Given the description of an element on the screen output the (x, y) to click on. 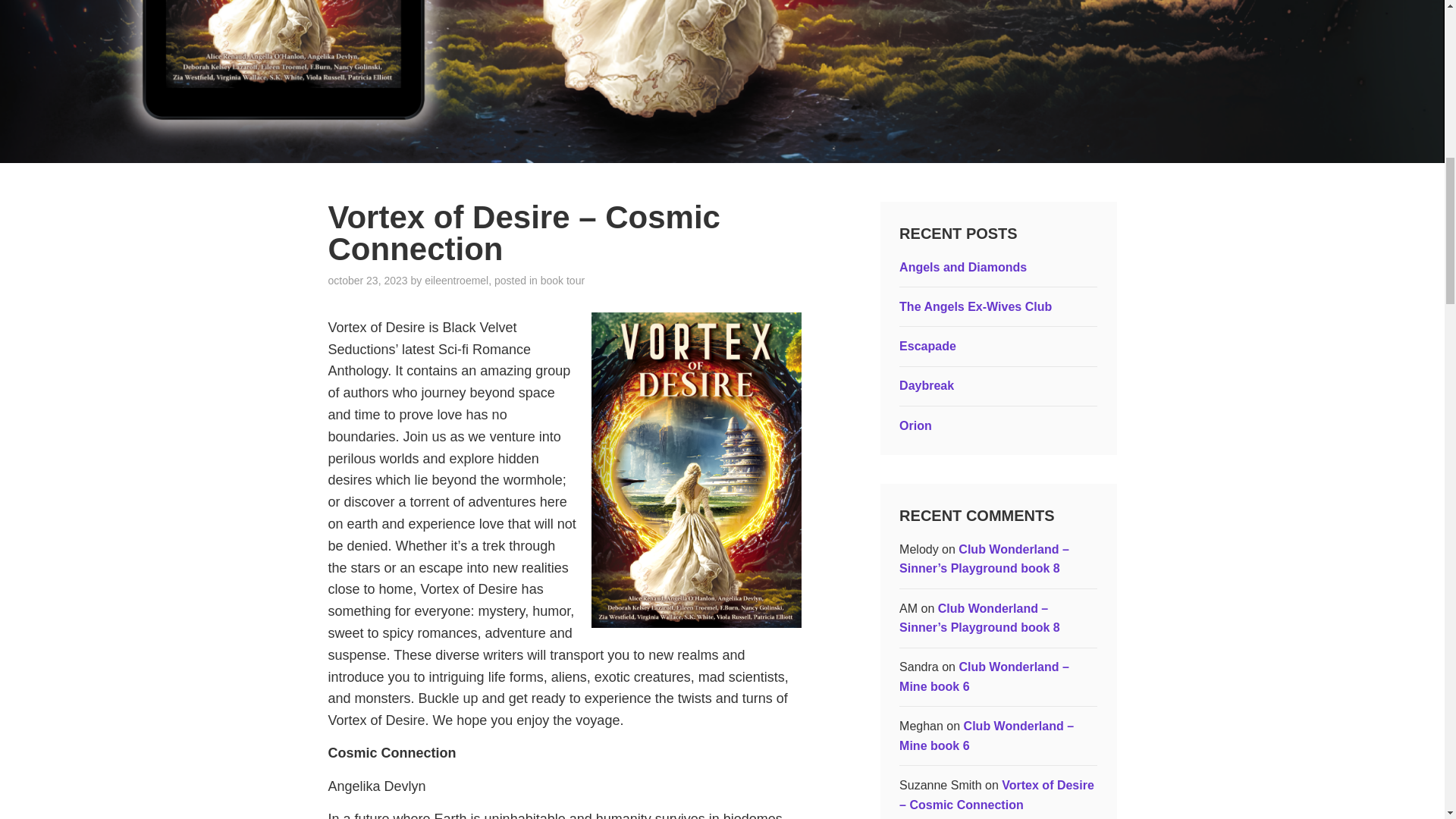
october 23, 2023 (367, 280)
eileentroemel (456, 280)
book tour (562, 280)
